Given the description of an element on the screen output the (x, y) to click on. 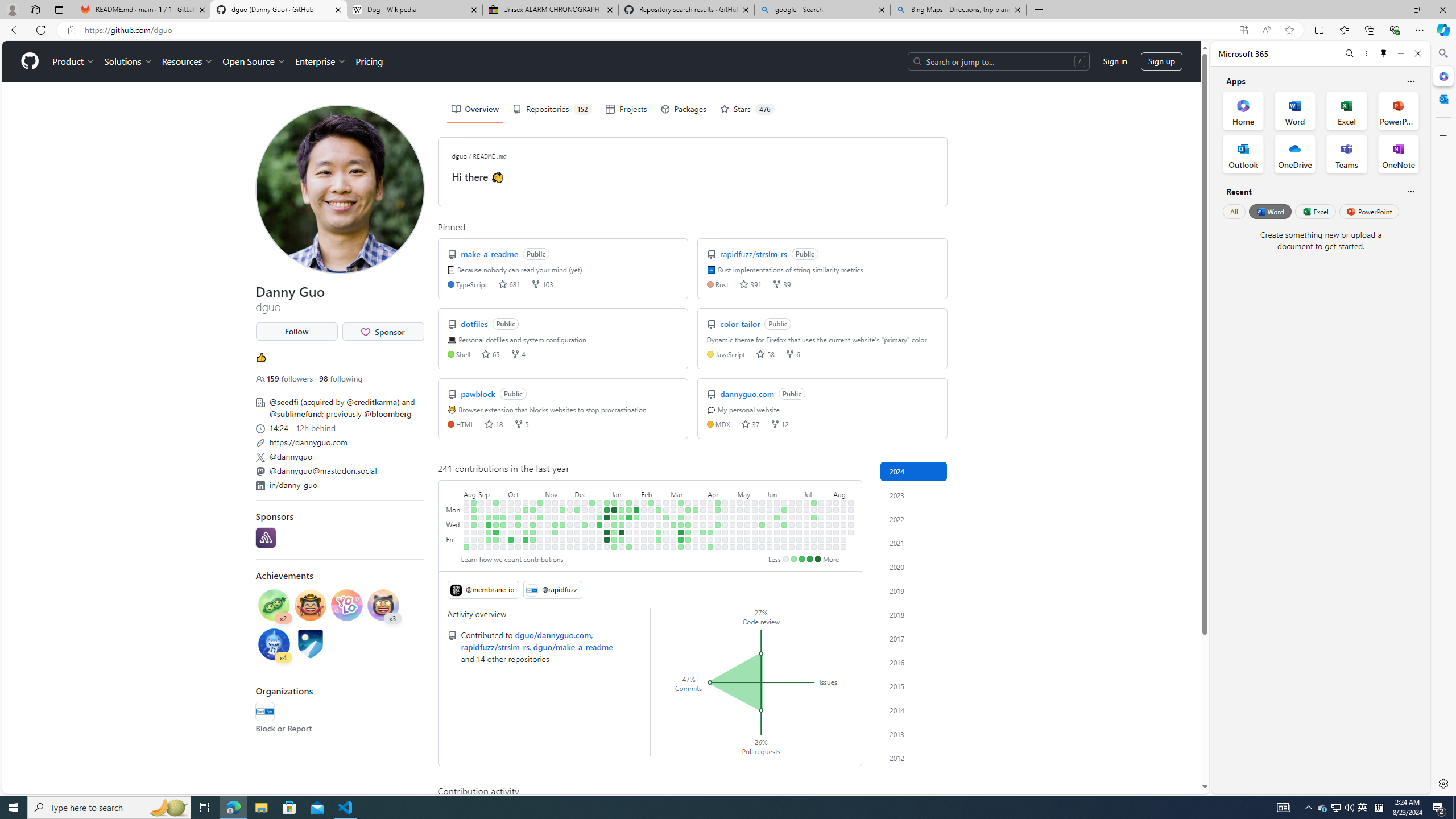
2 contributions on March 10th. (681, 502)
December (592, 492)
1 contribution on September 14th. (489, 531)
1 contribution on October 25th. (532, 524)
No contributions on May 7th. (740, 517)
No contributions on June 23rd. (791, 502)
No contributions on November 19th. (562, 502)
No contributions on March 27th. (695, 524)
No contributions on October 30th. (540, 509)
No contributions on January 26th. (628, 539)
No contributions on April 21st. (725, 502)
1 contribution on January 21st. (628, 502)
5 contributions on January 23rd. (628, 517)
Is this helpful? (1410, 191)
No contributions on April 27th. (725, 546)
